Given the description of an element on the screen output the (x, y) to click on. 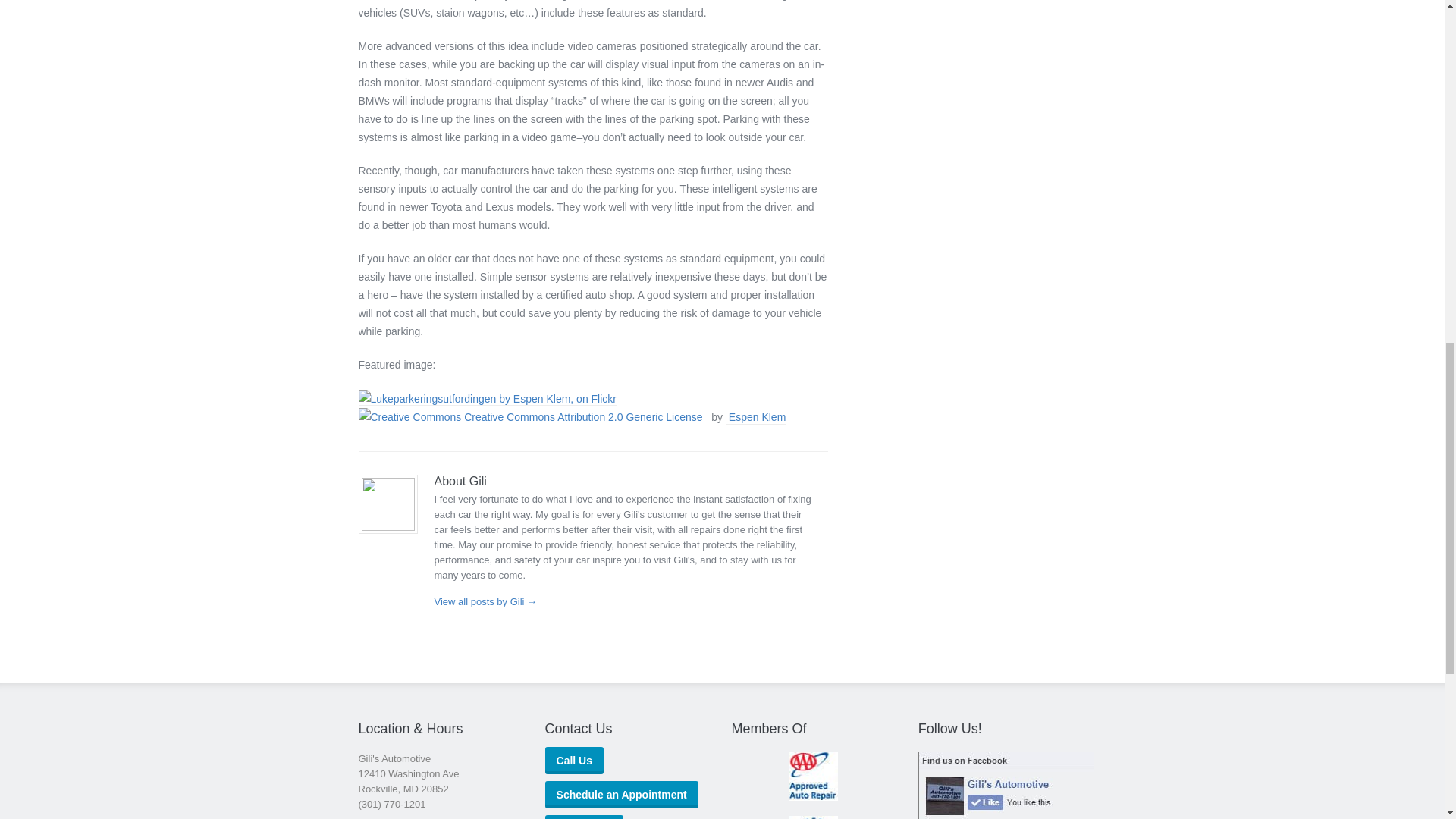
Lukeparkeringsutfordingen by Espen Klem, on Flickr (486, 398)
Contact Us (584, 816)
Call Us (574, 759)
Espen Klem (757, 418)
Schedule an Appointment (621, 794)
